Given the description of an element on the screen output the (x, y) to click on. 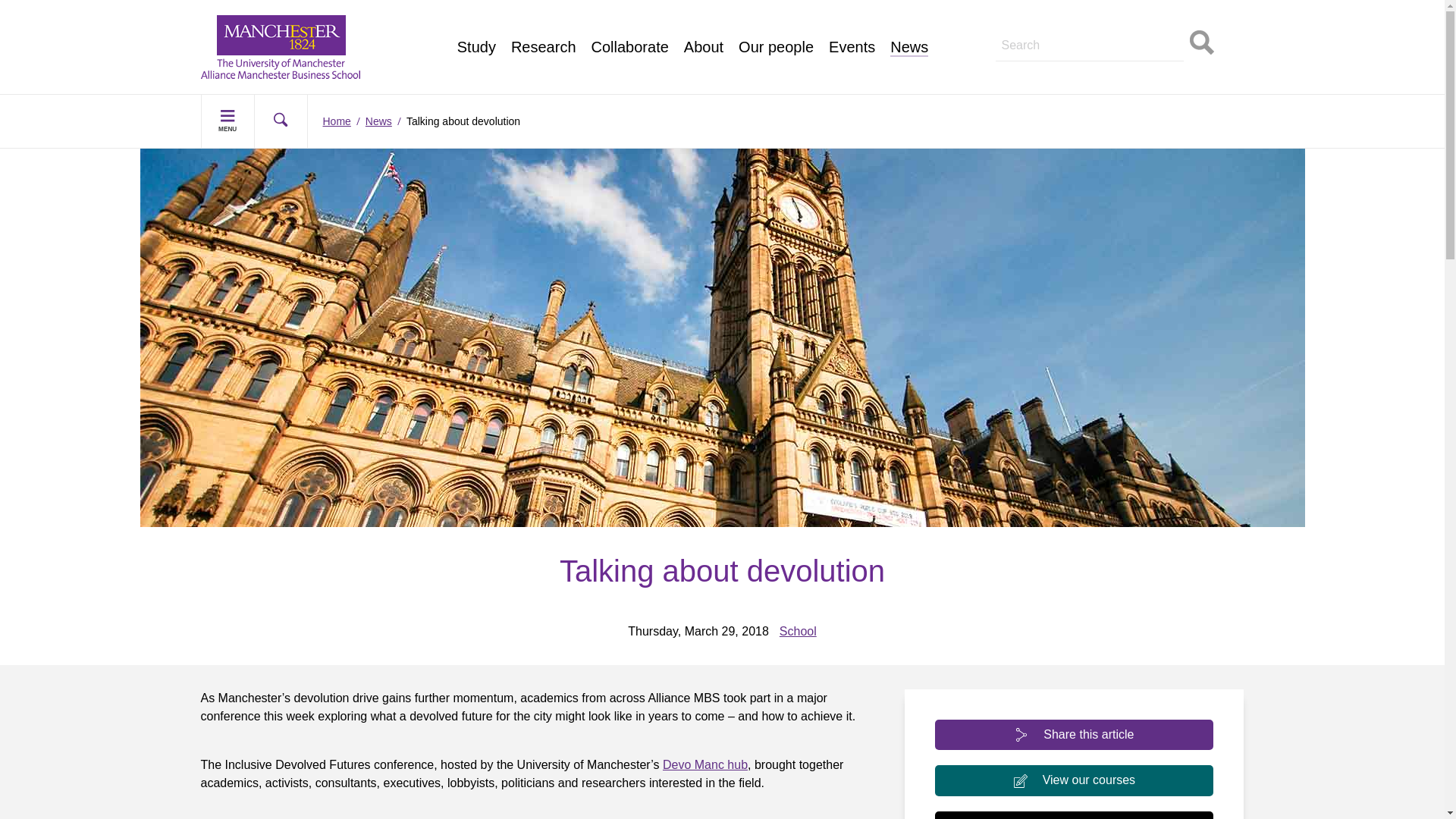
Global Part-time MBA (535, 2)
Part-time MSc Financial Management (317, 17)
Study (476, 46)
Global Executive MBA (275, 53)
Global Executive MBA (536, 17)
Global Part-time MBA (274, 35)
MBA Rankings (516, 35)
